Given the description of an element on the screen output the (x, y) to click on. 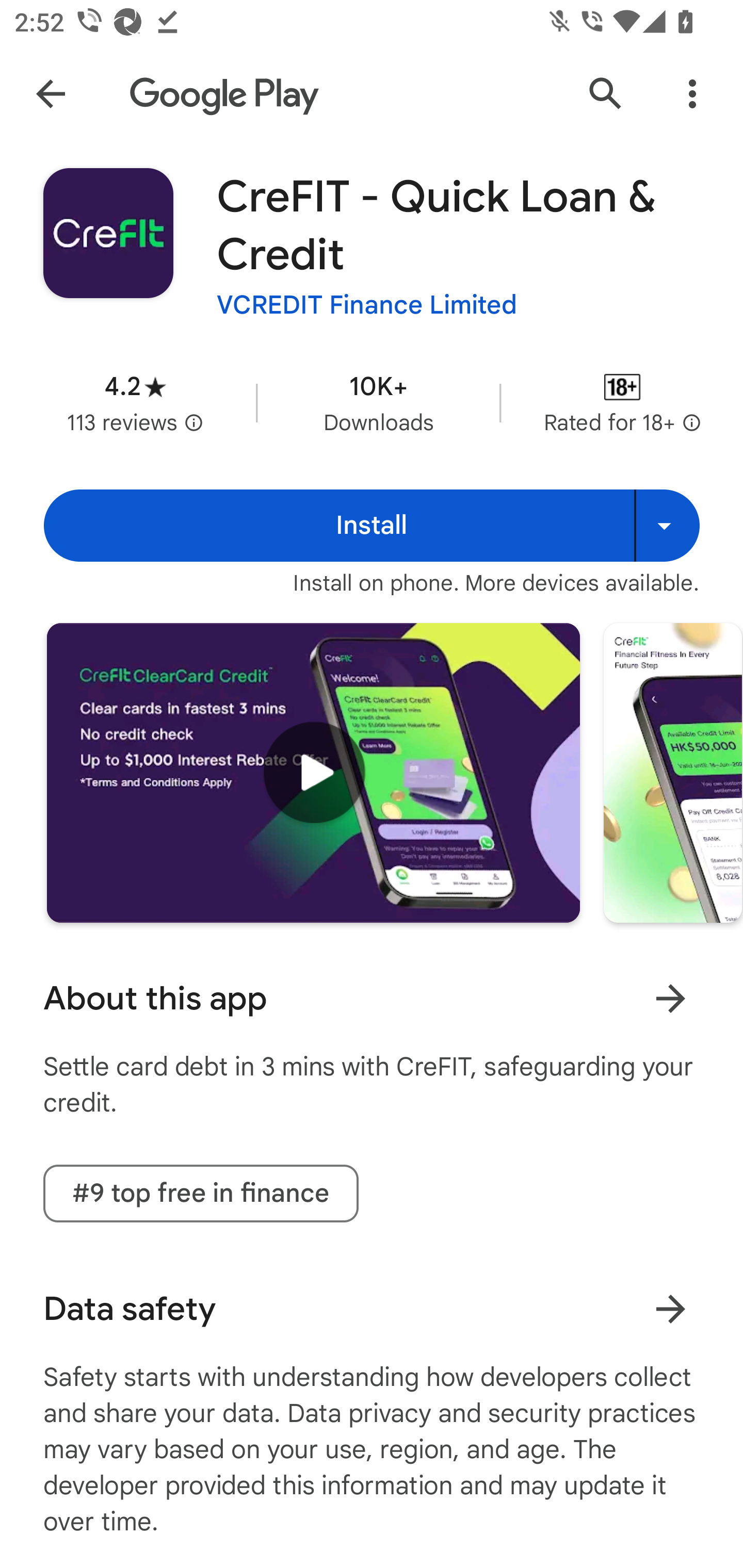
Navigate up (50, 93)
Search Google Play (605, 93)
More Options (692, 93)
VCREDIT Finance Limited (366, 304)
Average rating 4.2 stars in 113 reviews (135, 402)
Content rating Rated for 18+ (622, 402)
Install Install Install on more devices (371, 525)
Install on more devices (667, 525)
Play trailer for "CreFIT - Quick Loan & Credit" (313, 771)
About this app Learn more About this app (371, 998)
Learn more About this app (670, 997)
#9 top free in finance tag (200, 1193)
Data safety Learn more about data safety (371, 1309)
Learn more about data safety (670, 1308)
